Given the description of an element on the screen output the (x, y) to click on. 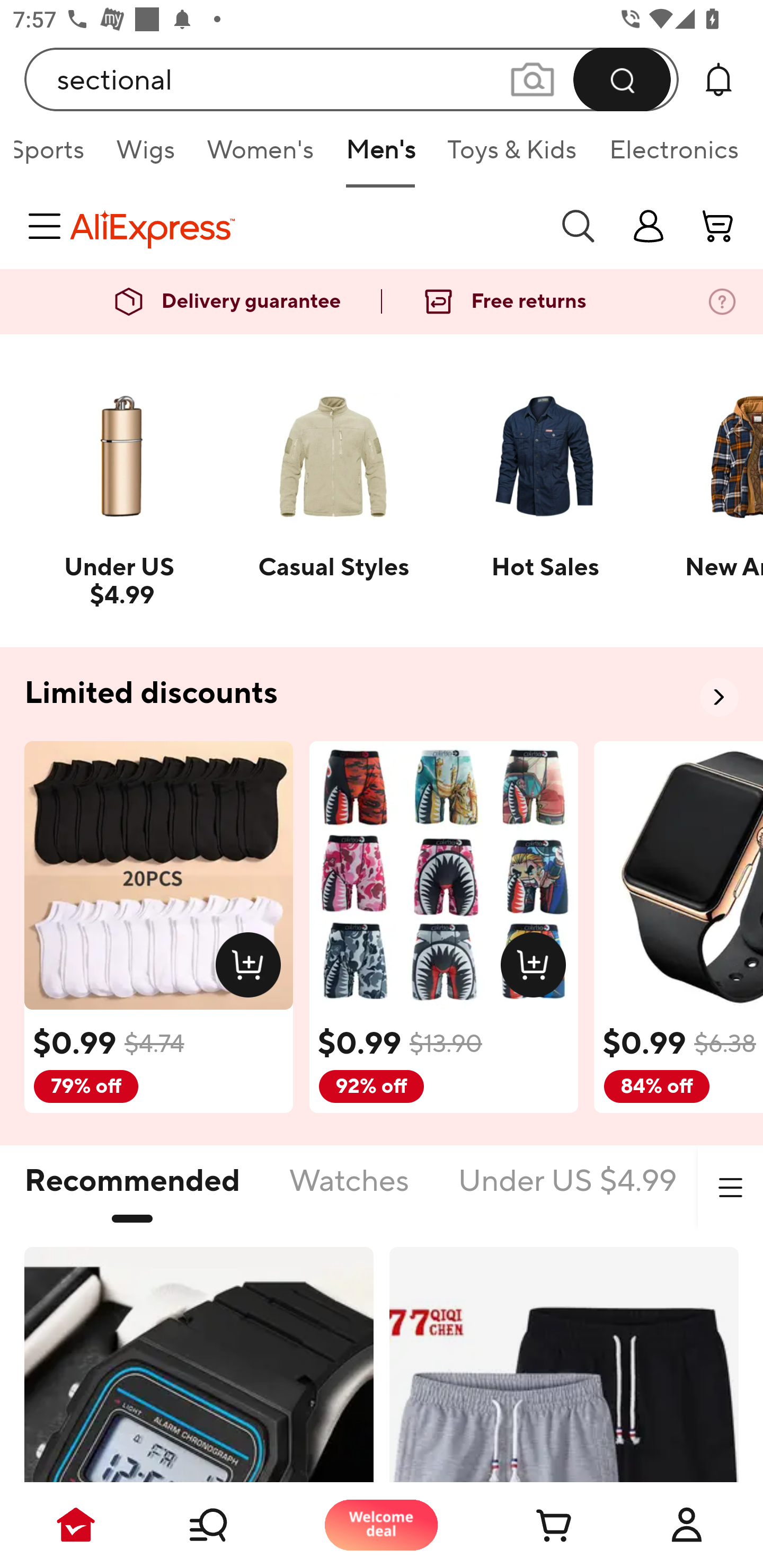
sectional (351, 79)
Sports (56, 155)
Wigs (144, 155)
Women's (260, 155)
Toys & Kids (511, 155)
Electronics (669, 155)
aliexpress (305, 225)
category (47, 225)
shop (648, 225)
account (718, 225)
Limited discounts  Limited discounts (381, 694)
128x128.png_ (252, 967)
128x128.png_ (536, 967)
 (730, 1188)
Recommended (132, 1191)
Watches (348, 1191)
Under US $4.99 (567, 1191)
Shop (228, 1524)
Cart (533, 1524)
Account (686, 1524)
